Given the description of an element on the screen output the (x, y) to click on. 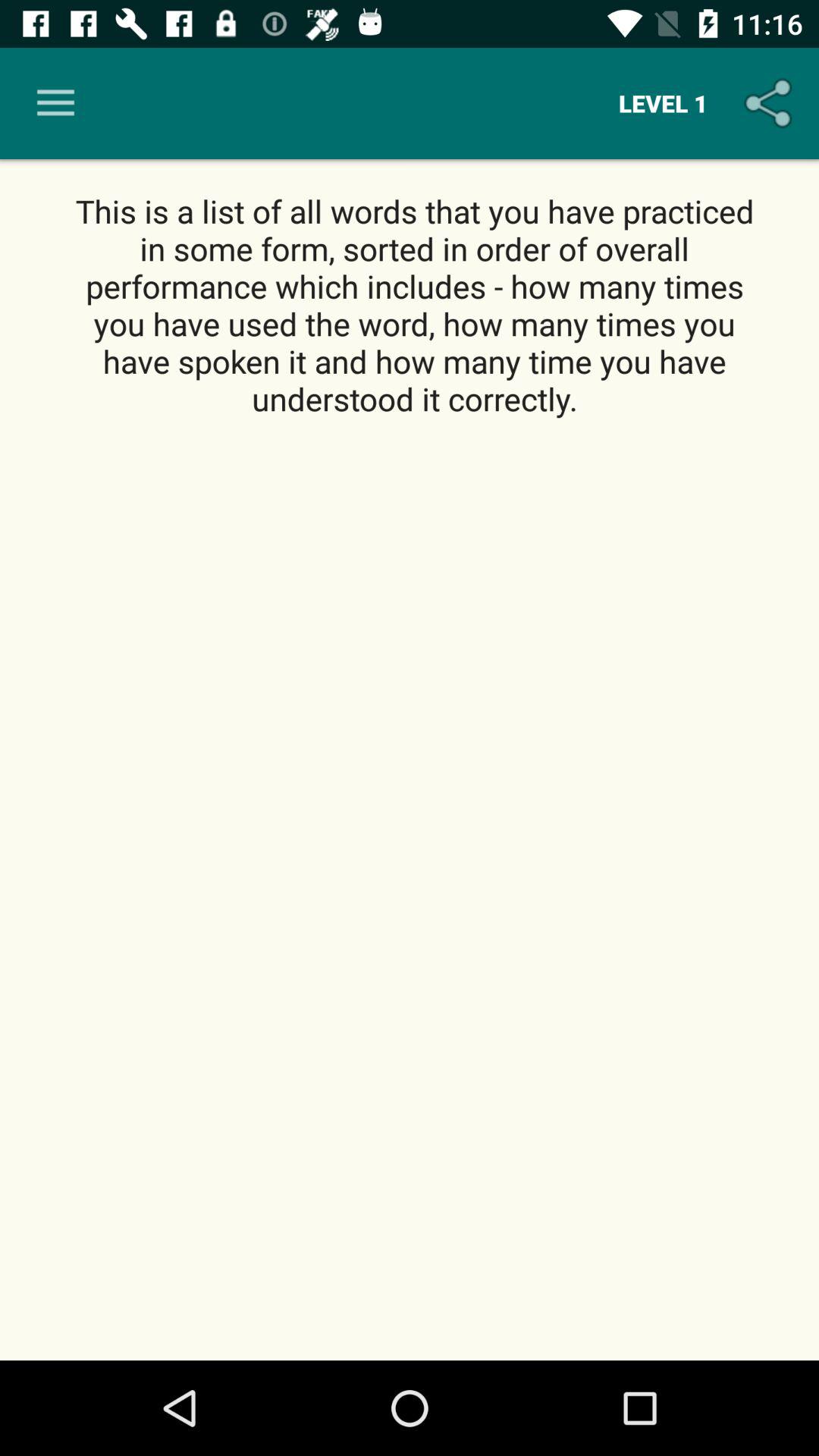
tap icon above the this is a (55, 103)
